Given the description of an element on the screen output the (x, y) to click on. 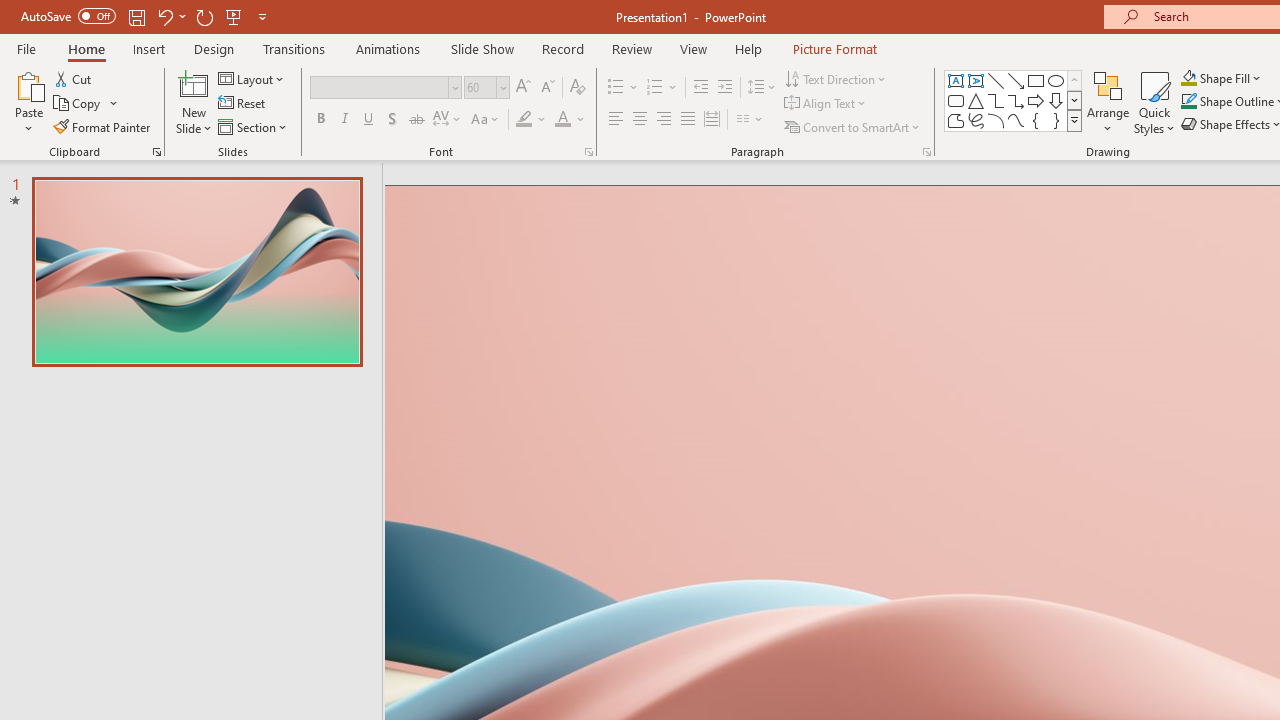
Format Painter (103, 126)
Font Size (480, 87)
Help (748, 48)
Clear Formatting (577, 87)
System (10, 11)
Customize Quick Access Toolbar (262, 15)
Picture Format (834, 48)
Line Spacing (762, 87)
Undo (164, 15)
Curve (1016, 120)
Change Case (486, 119)
Vertical Text Box (975, 80)
Paste (28, 102)
Isosceles Triangle (975, 100)
Convert to SmartArt (853, 126)
